Given the description of an element on the screen output the (x, y) to click on. 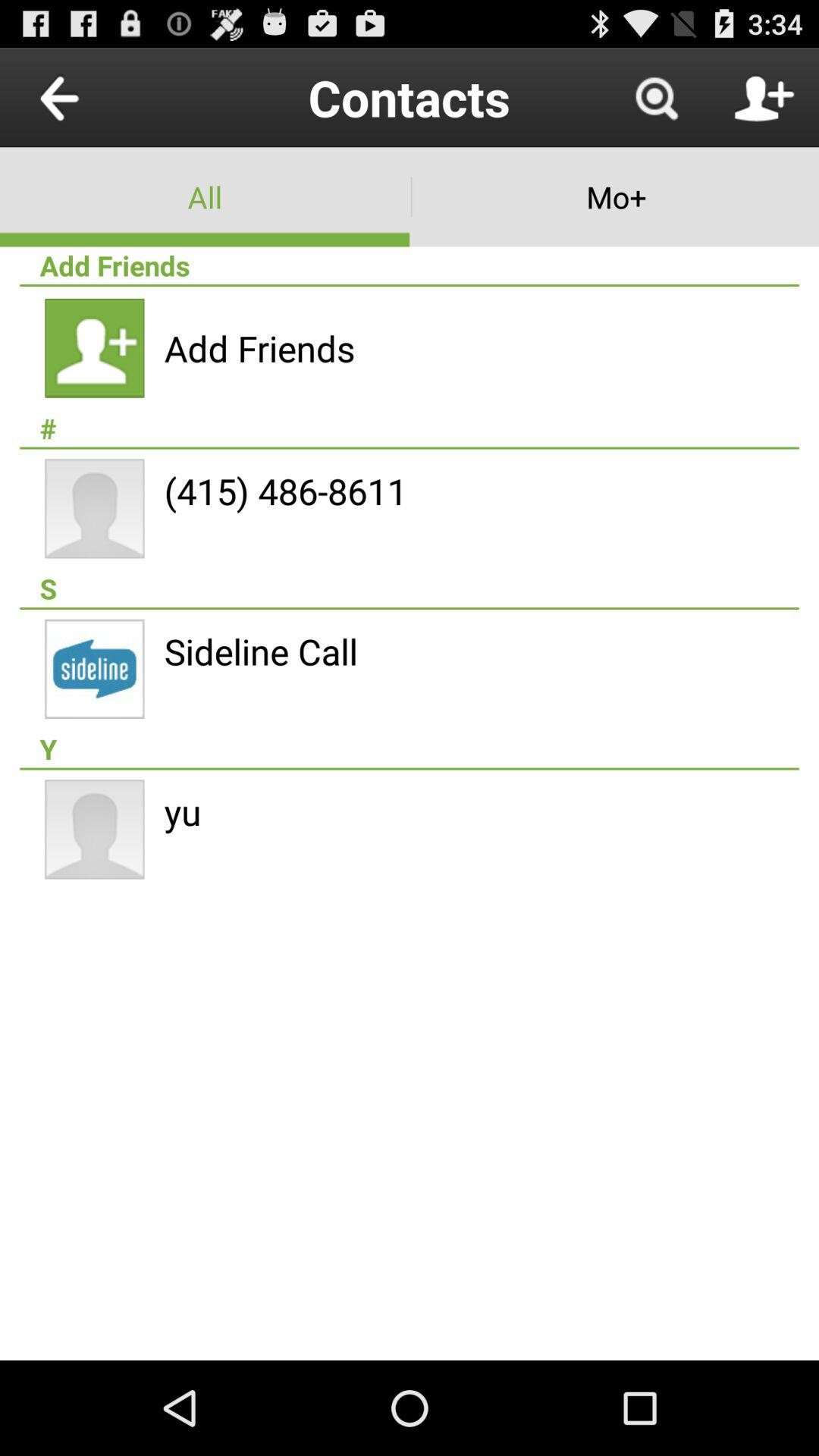
go back (94, 97)
